Given the description of an element on the screen output the (x, y) to click on. 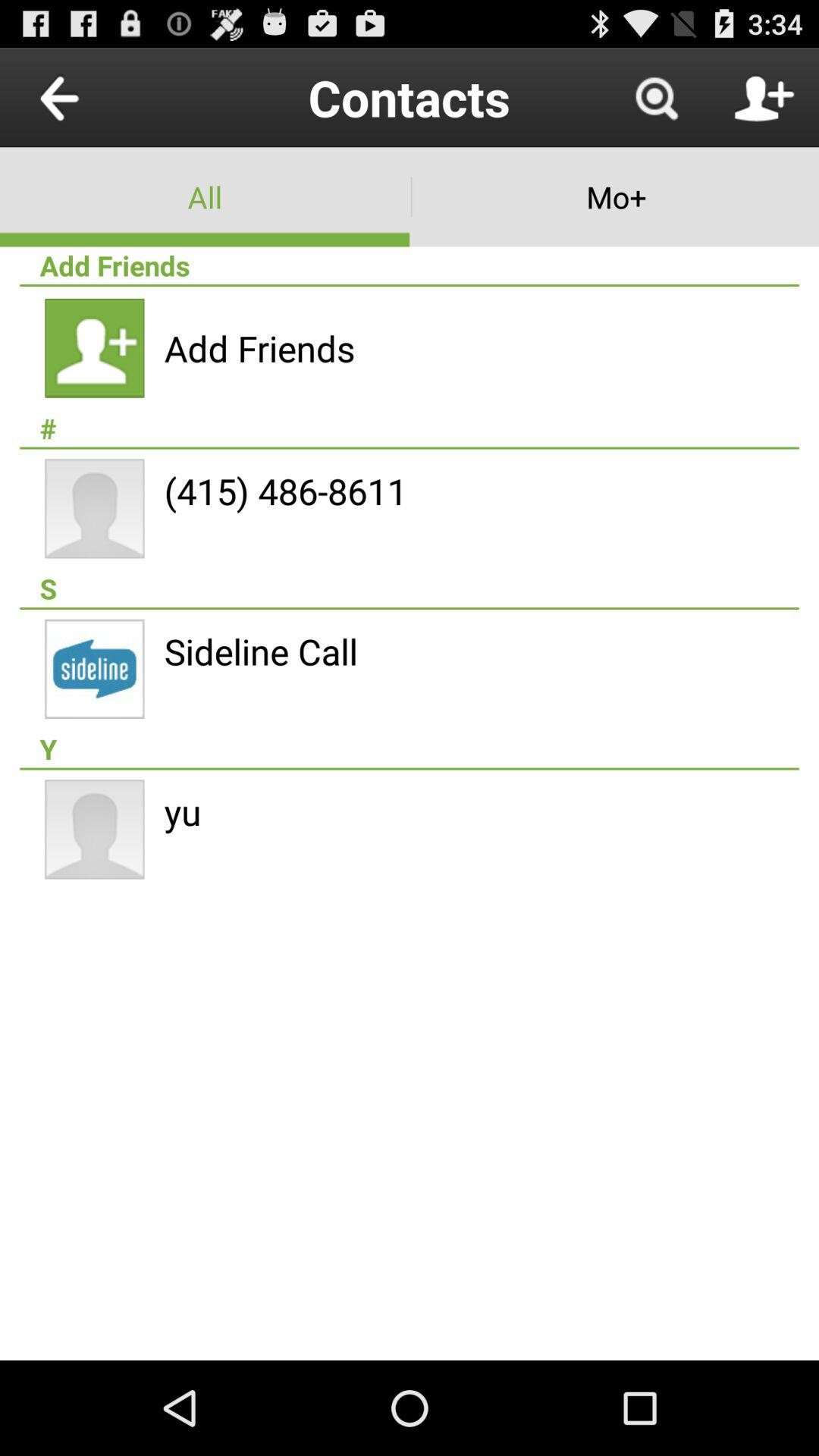
go back (94, 97)
